Given the description of an element on the screen output the (x, y) to click on. 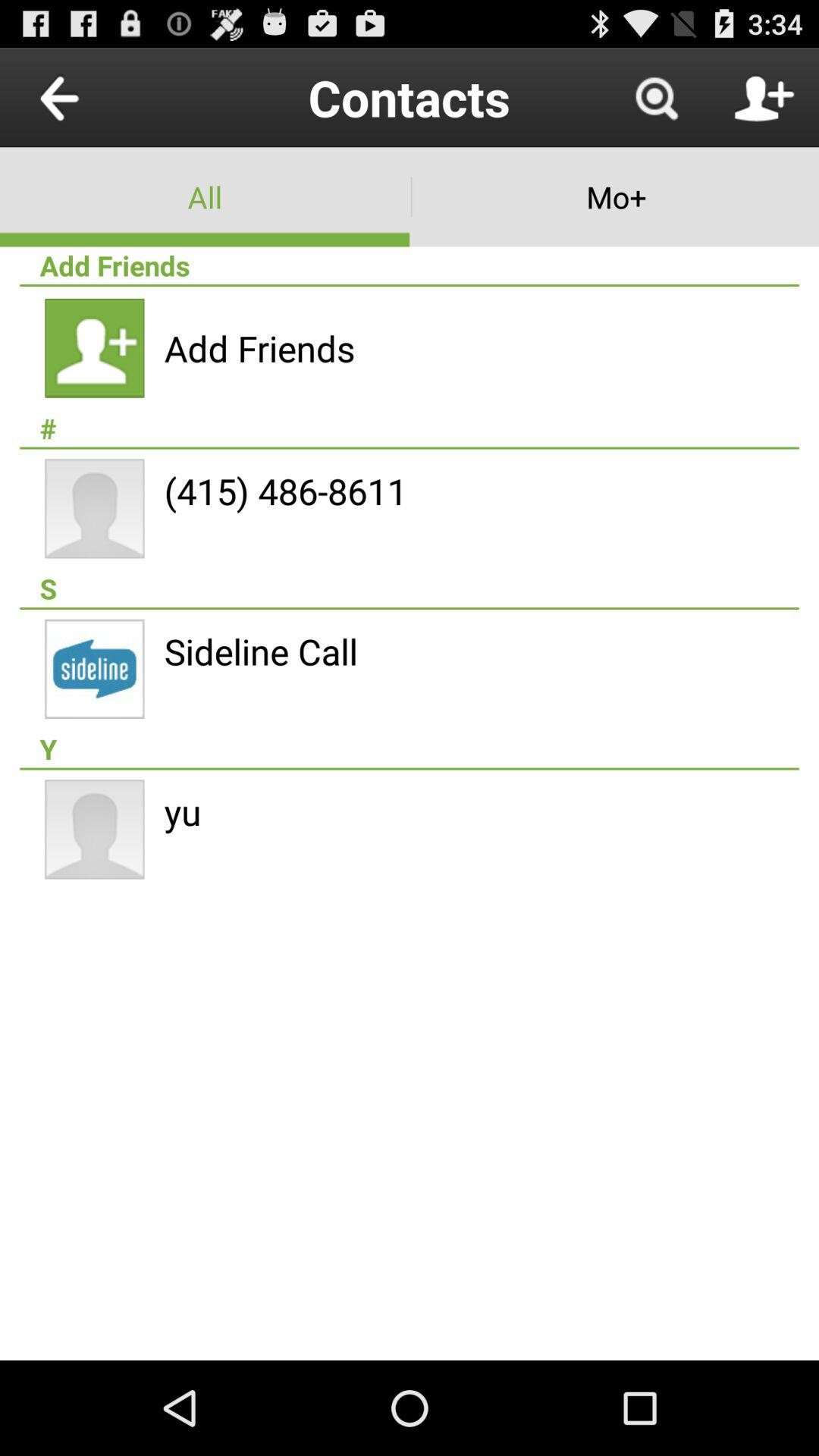
go back (94, 97)
